Given the description of an element on the screen output the (x, y) to click on. 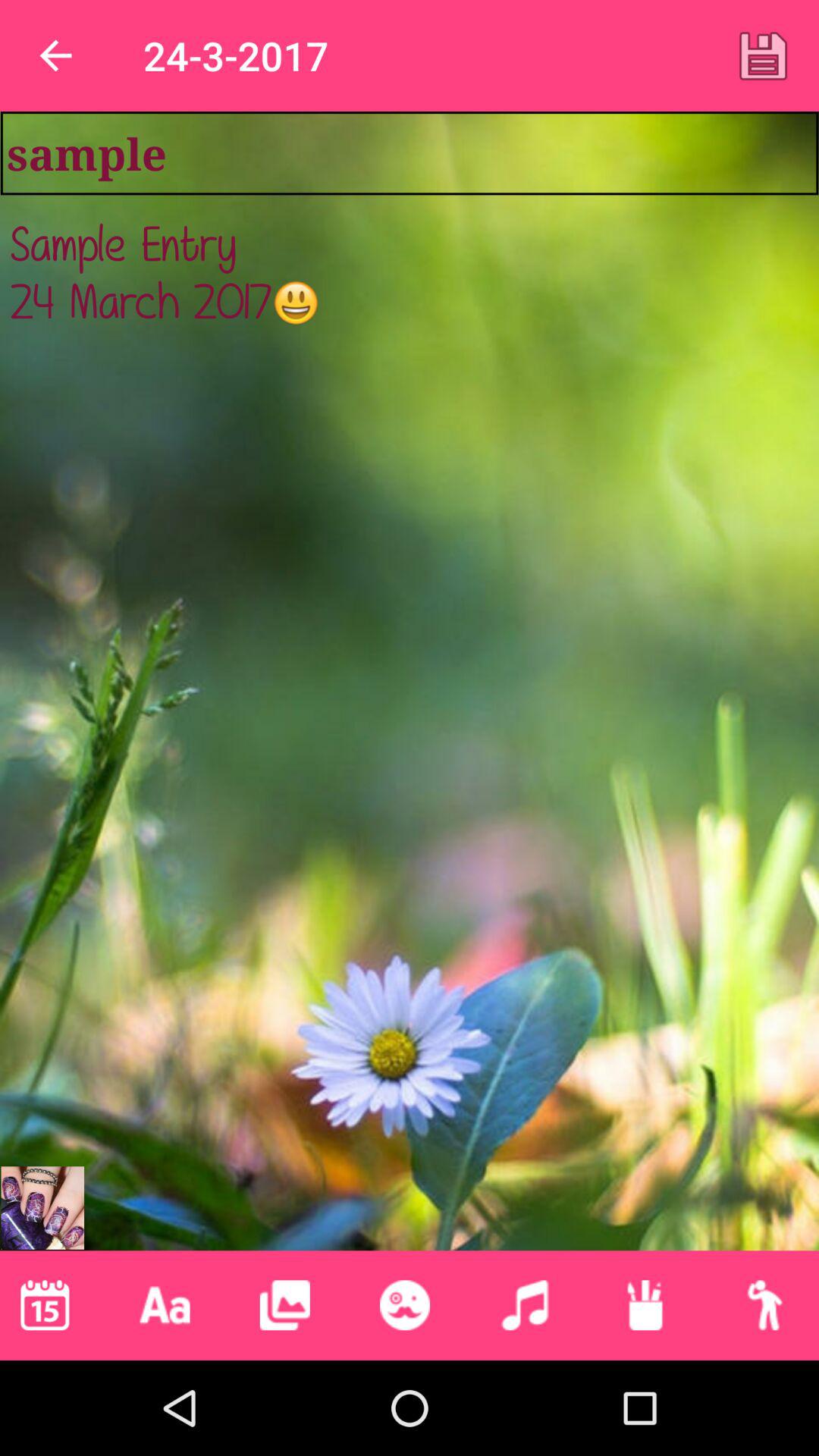
customize the diary (644, 1305)
